Given the description of an element on the screen output the (x, y) to click on. 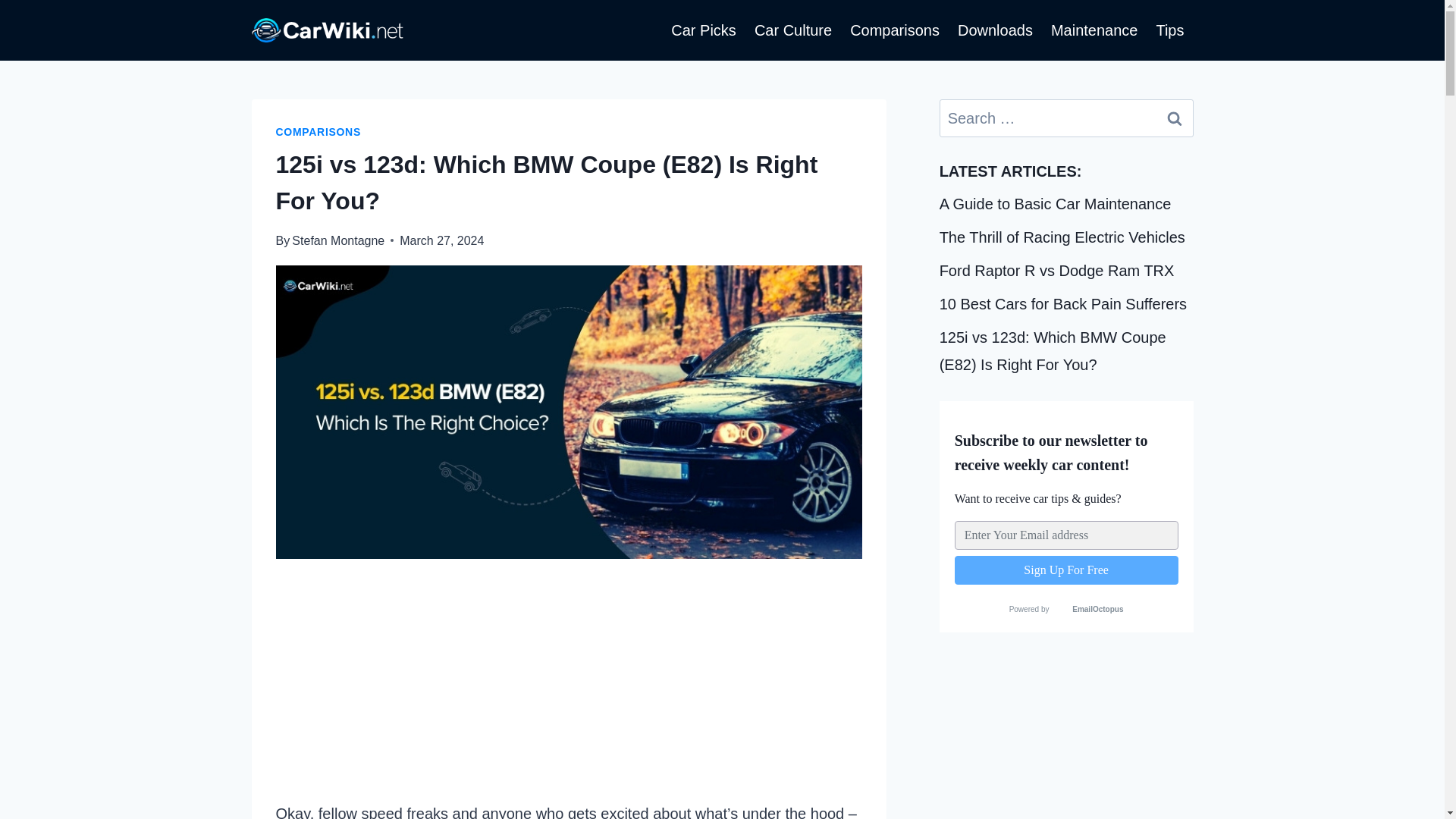
Car Culture (793, 30)
Tips (1169, 30)
Search (1174, 118)
Downloads (995, 30)
Stefan Montagne (338, 240)
Search (1174, 118)
Advertisement (568, 689)
Maintenance (1094, 30)
Car Picks (703, 30)
COMPARISONS (318, 132)
Comparisons (895, 30)
Sign Up For Free (1066, 570)
